Given the description of an element on the screen output the (x, y) to click on. 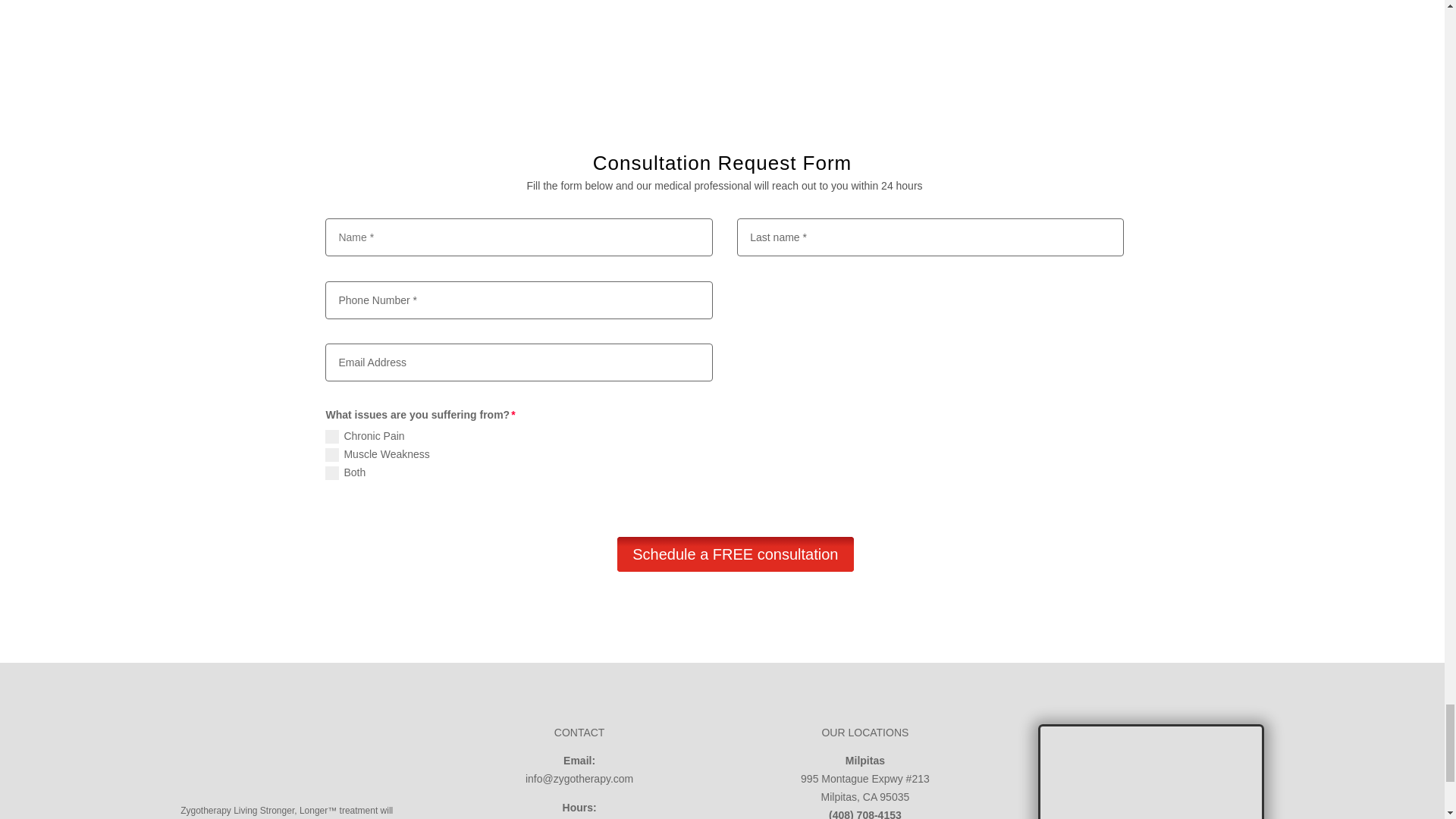
Schedule a FREE consultation (734, 554)
